Given the description of an element on the screen output the (x, y) to click on. 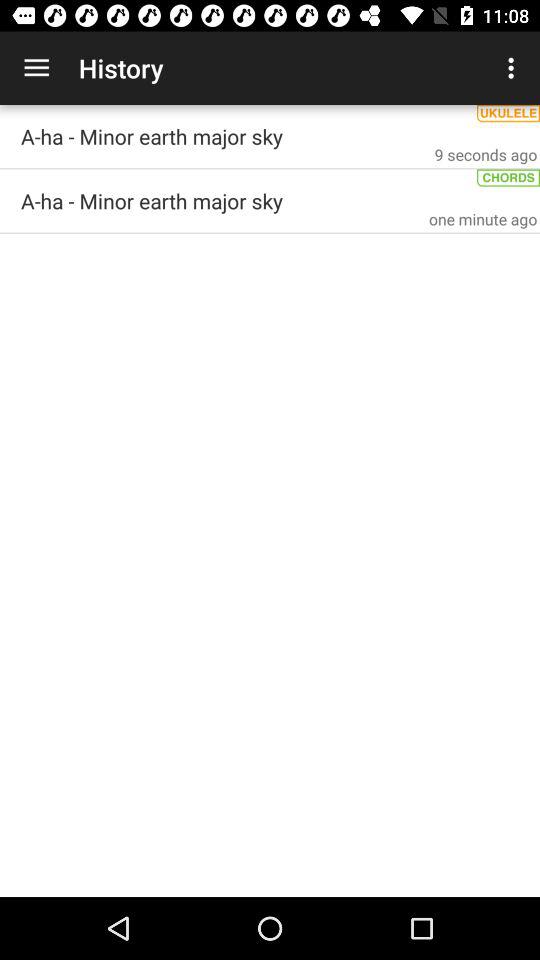
press icon next to the history (36, 68)
